Given the description of an element on the screen output the (x, y) to click on. 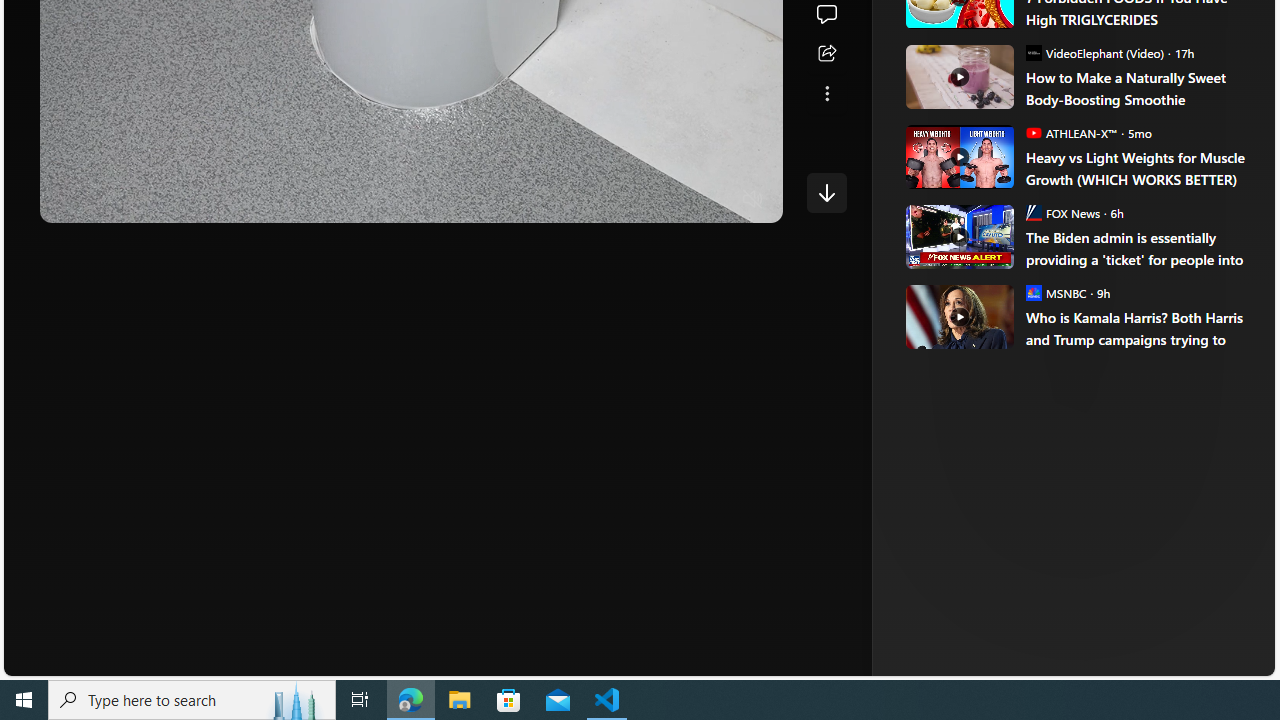
How to Make a Naturally Sweet Body-Boosting Smoothie (1136, 88)
Share this story (826, 53)
FOX News FOX News (1062, 212)
MSNBC MSNBC (1055, 291)
Summer Sale! Up to -55% (1084, 186)
Seek Back (109, 200)
Summer Sale! Up to -55% (1084, 284)
VideoElephant (Video) (1033, 52)
